Given the description of an element on the screen output the (x, y) to click on. 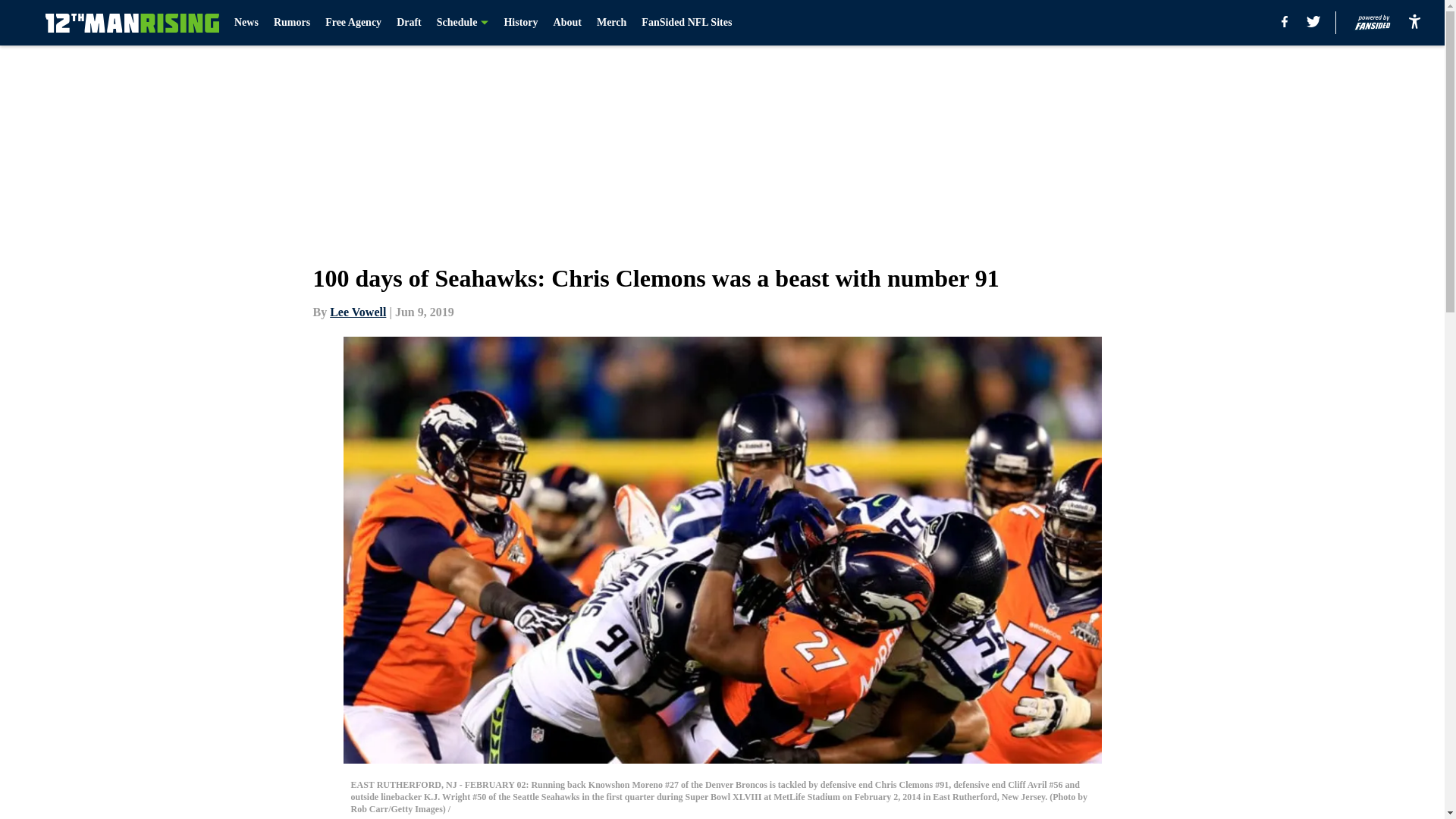
Lee Vowell (357, 311)
About (566, 22)
History (520, 22)
Free Agency (352, 22)
Draft (409, 22)
Merch (611, 22)
FanSided NFL Sites (687, 22)
Rumors (291, 22)
News (246, 22)
